Given the description of an element on the screen output the (x, y) to click on. 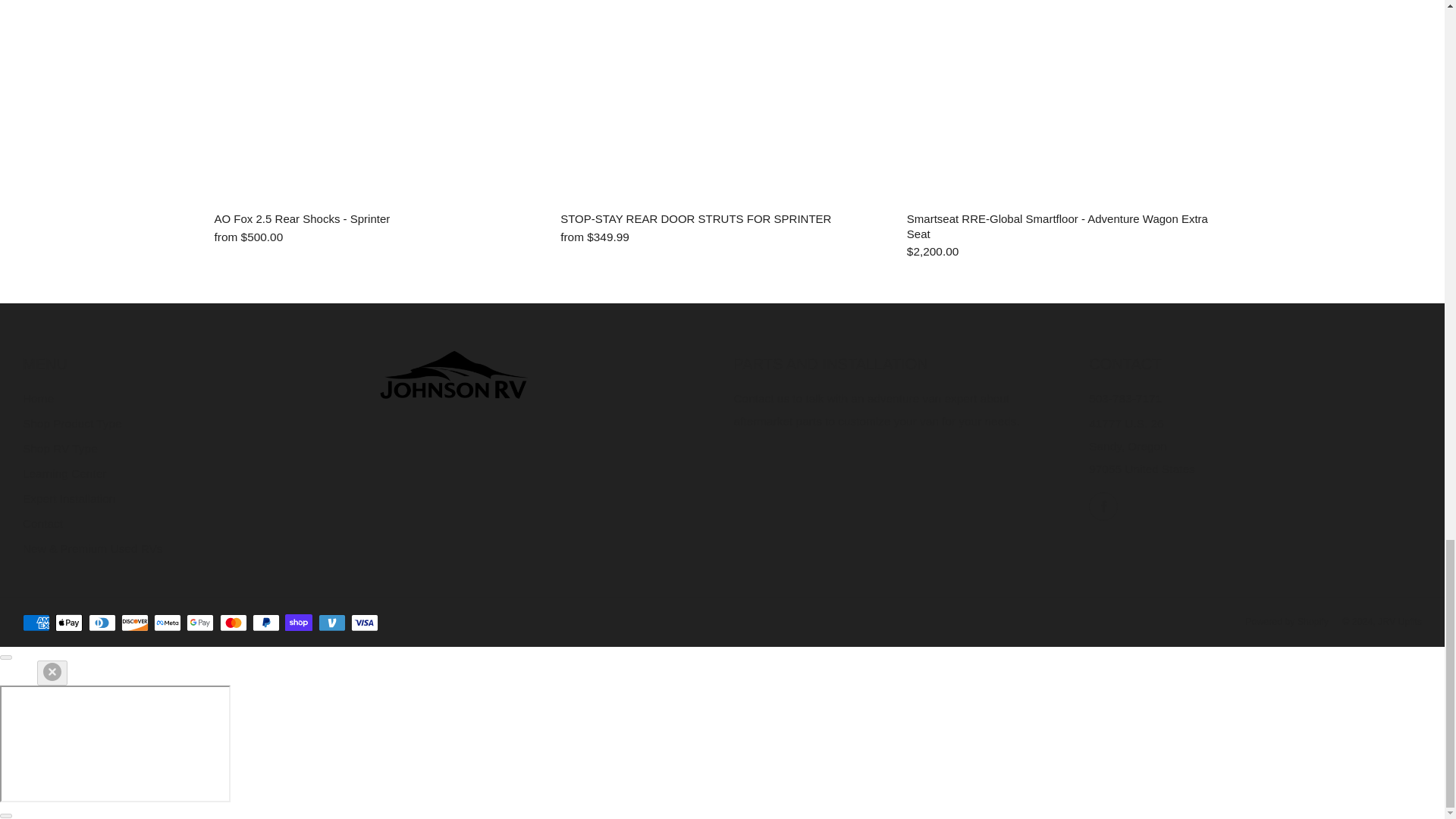
AO Fox 2.5 Rear Shocks - Sprinter (376, 218)
STOP-STAY REAR DOOR STRUTS FOR SPRINTER (721, 236)
AO Fox 2.5 Rear Shocks - Sprinter (376, 236)
STOP-STAY REAR DOOR STRUTS FOR SPRINTER (721, 218)
